Given the description of an element on the screen output the (x, y) to click on. 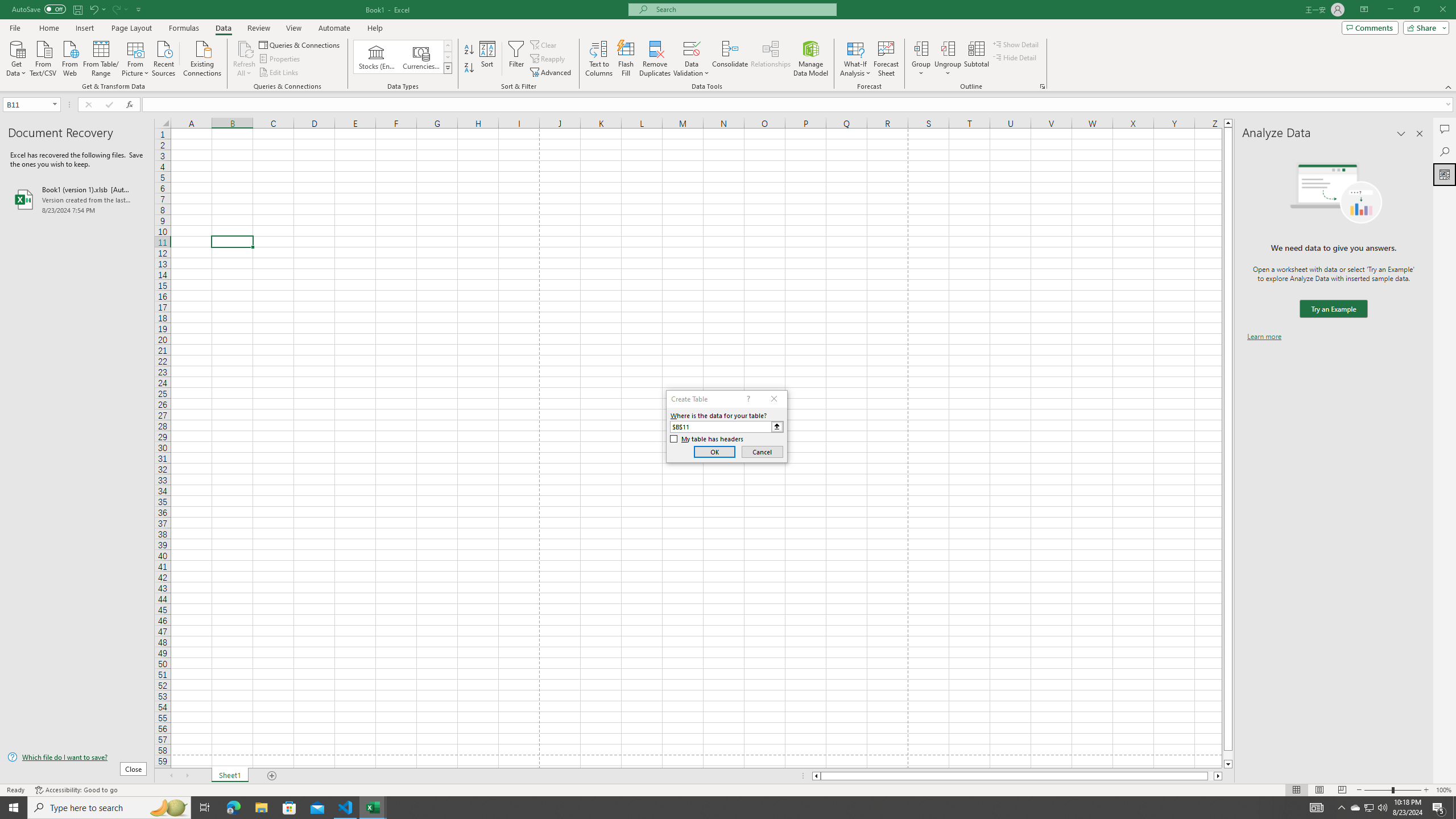
Sort... (487, 58)
Show Detail (1016, 44)
From Picture (135, 57)
AutomationID: ConvertToLinkedEntity (403, 56)
Flash Fill (625, 58)
